Given the description of an element on the screen output the (x, y) to click on. 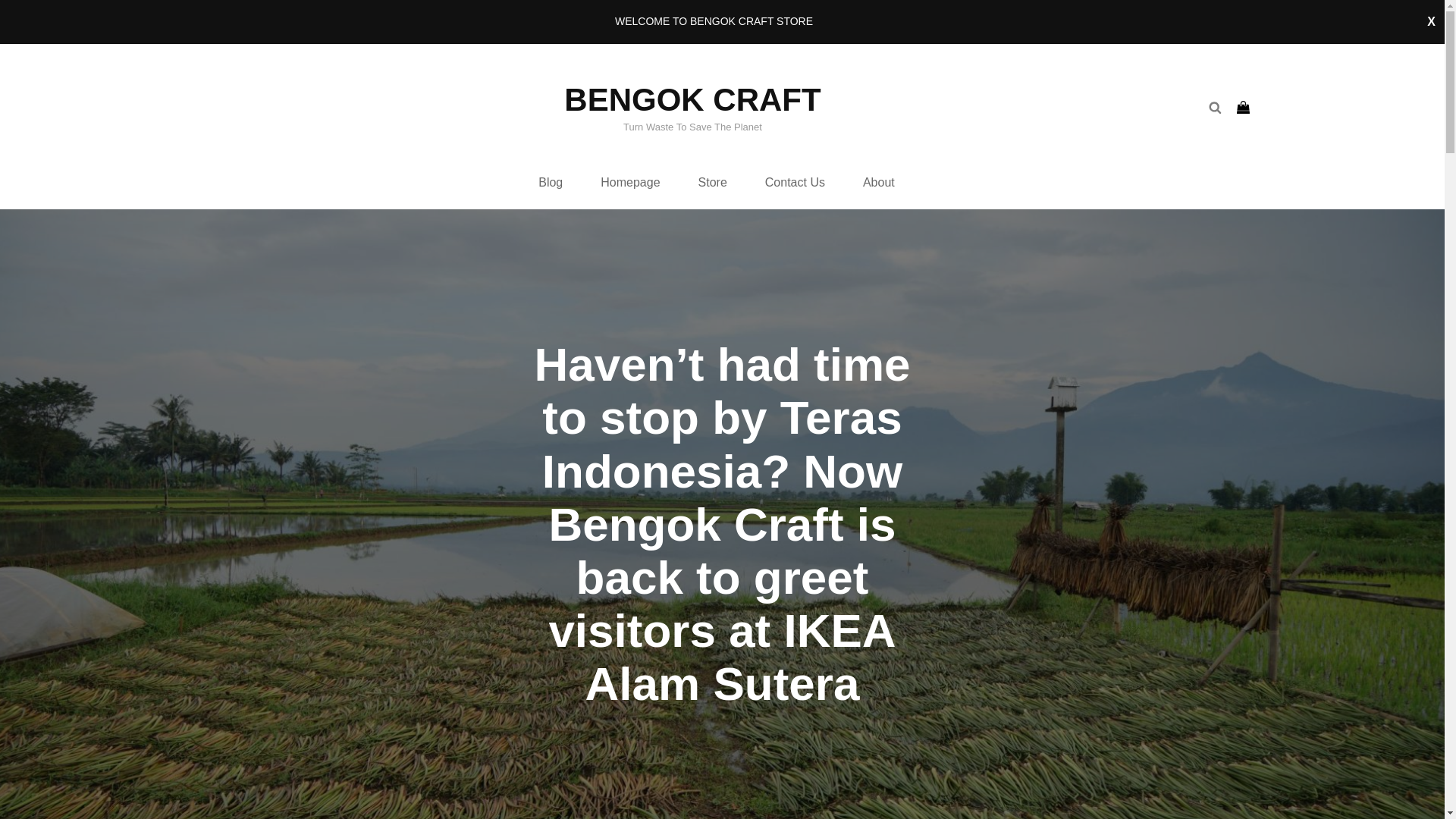
Homepage (629, 182)
About (879, 182)
Contact Us (794, 182)
Blog (549, 182)
BENGOK CRAFT (692, 99)
Store (712, 182)
